Given the description of an element on the screen output the (x, y) to click on. 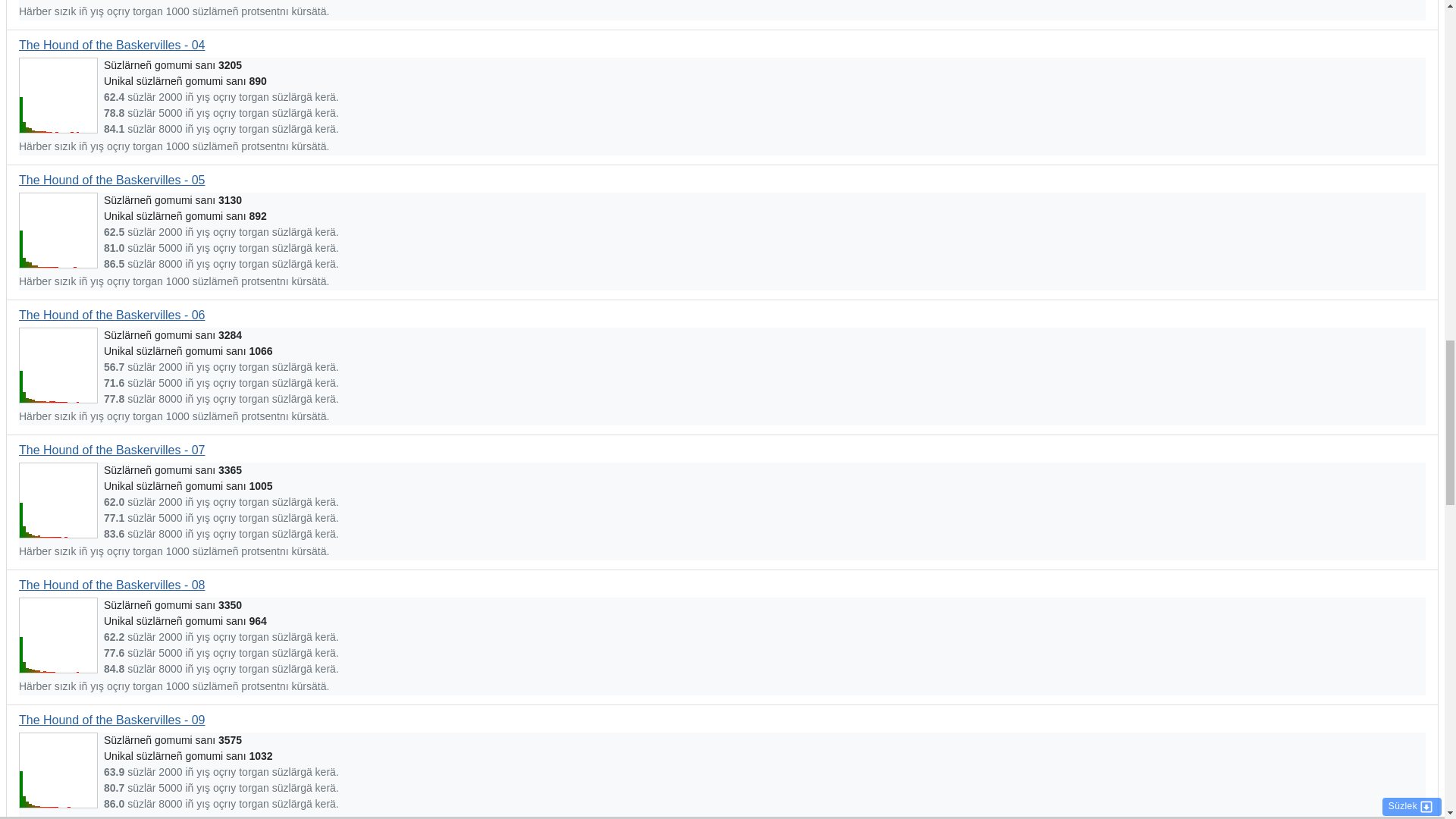
The Hound of the Baskervilles - 06 (111, 314)
The Hound of the Baskervilles - 09 (111, 719)
The Hound of the Baskervilles - 04 (111, 44)
The Hound of the Baskervilles - 08 (111, 584)
The Hound of the Baskervilles - 07 (111, 449)
The Hound of the Baskervilles - 05 (111, 179)
